Given the description of an element on the screen output the (x, y) to click on. 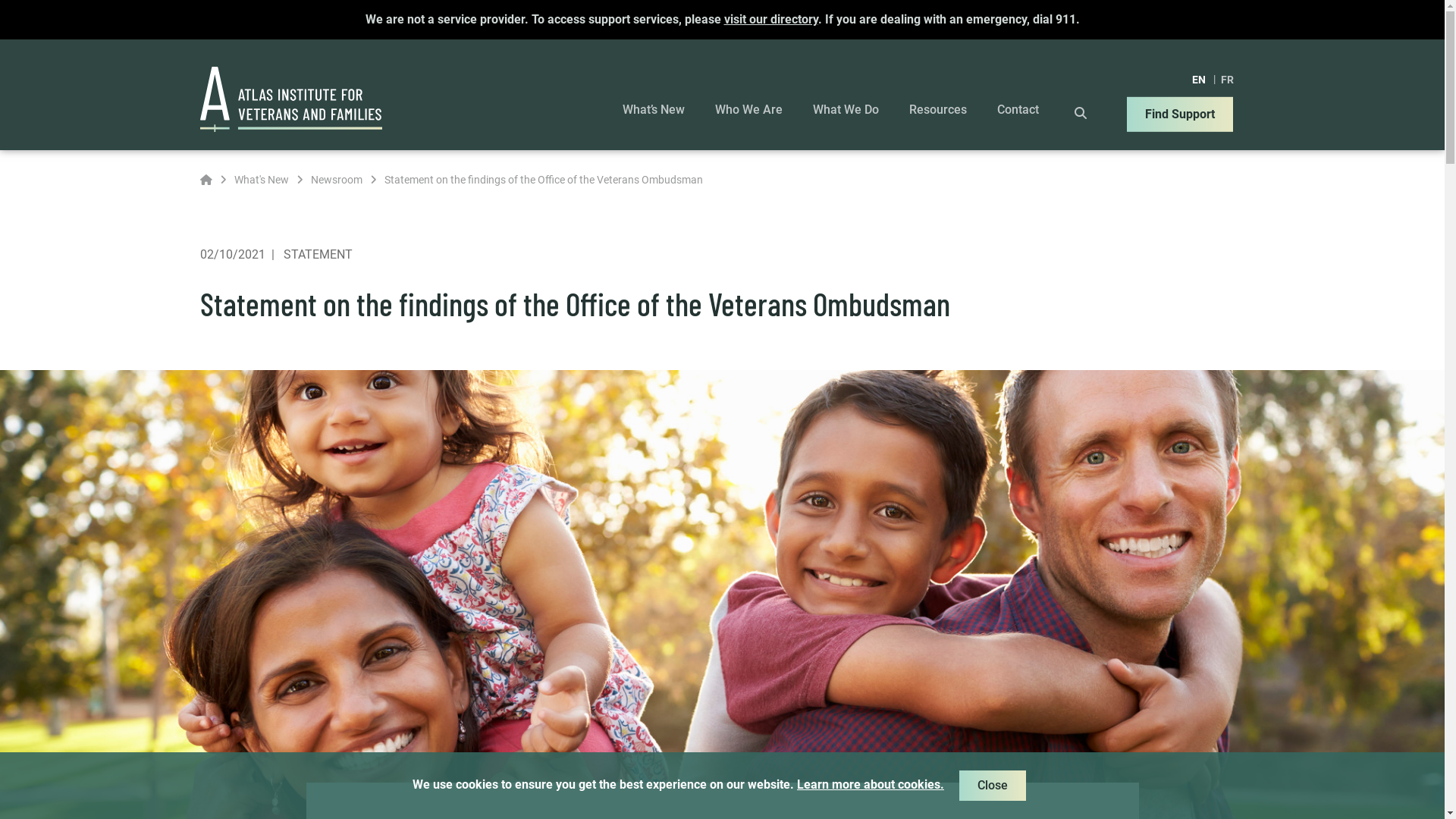
Learn more about cookies. Element type: text (870, 784)
Find Support Element type: text (1179, 113)
Close Element type: text (992, 785)
Accueil Element type: text (206, 179)
Accueil Element type: hover (206, 179)
What's New Element type: text (260, 179)
visit our directory Element type: text (770, 19)
Contact Element type: text (1018, 109)
FR Element type: text (1226, 79)
Newsroom Element type: text (336, 179)
EN Element type: text (1198, 79)
